Given the description of an element on the screen output the (x, y) to click on. 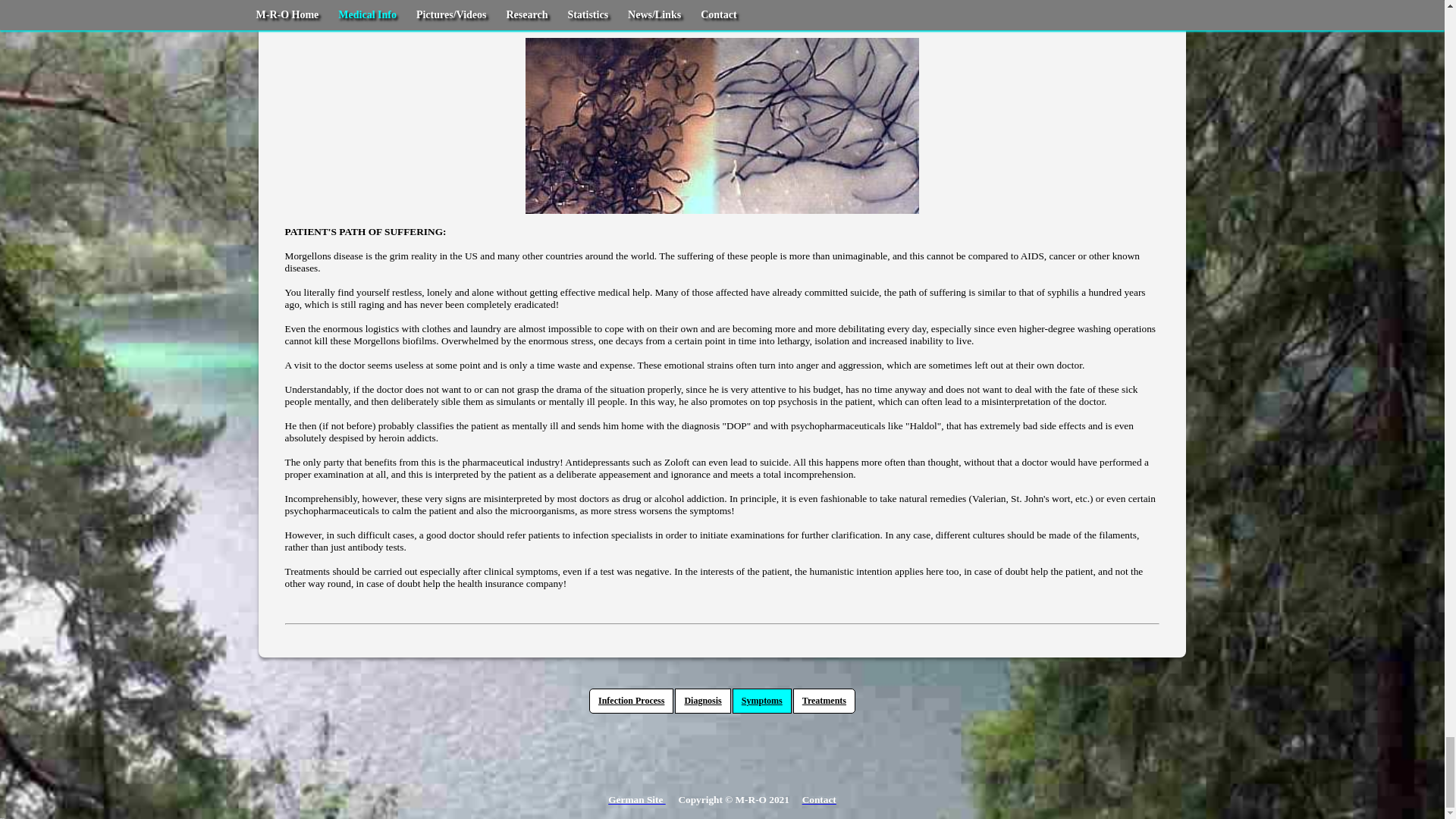
Infection Process (630, 700)
Treatments (824, 700)
Contact (818, 799)
Symptoms (762, 700)
German Site (636, 799)
Diagnosis (702, 700)
